Given the description of an element on the screen output the (x, y) to click on. 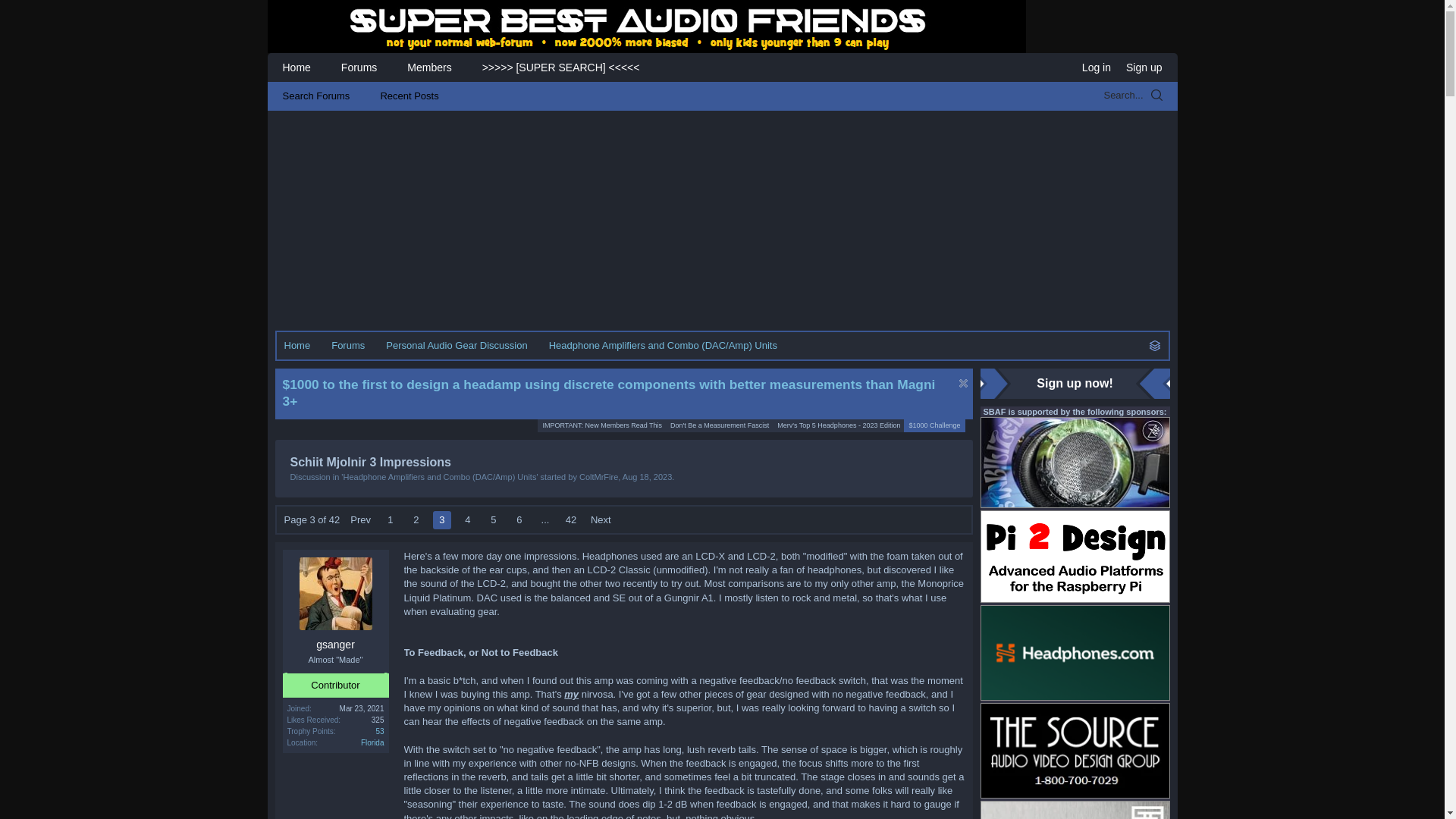
... (544, 520)
1 (389, 520)
Dismiss Notice (962, 383)
6 (519, 520)
Next (467, 520)
3 (601, 520)
Don't Be a Measurement Fascist (441, 520)
Aug 18, 2023 (719, 425)
Home (647, 476)
4 (296, 345)
Prev (467, 520)
Aug 18, 2023 at 10:04 AM (360, 520)
53 (647, 476)
Forums (379, 731)
